Given the description of an element on the screen output the (x, y) to click on. 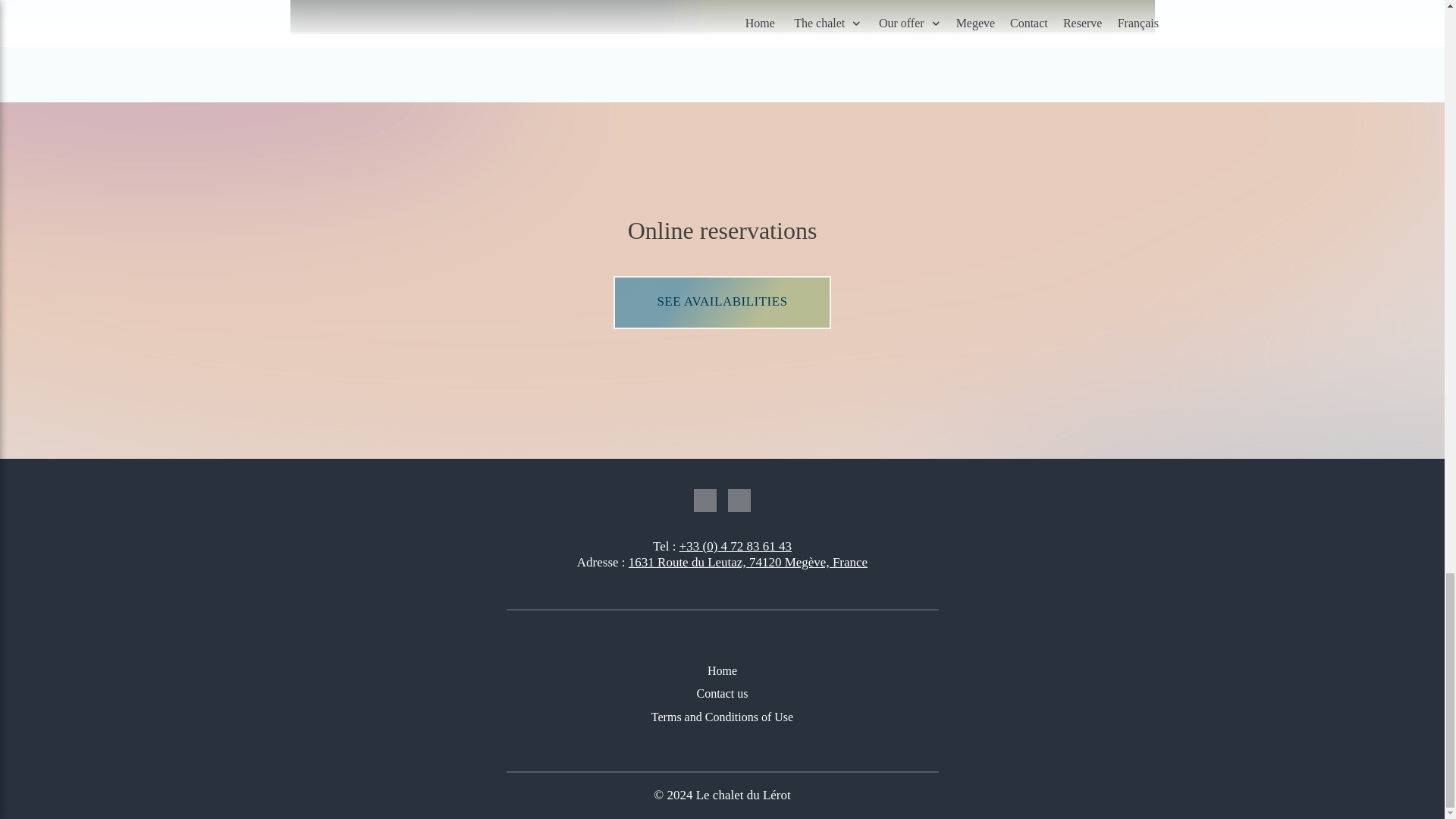
Contact us (722, 693)
Terms and Conditions of Use (722, 717)
SEE AVAILABILITIES (721, 302)
Home (722, 671)
